Given the description of an element on the screen output the (x, y) to click on. 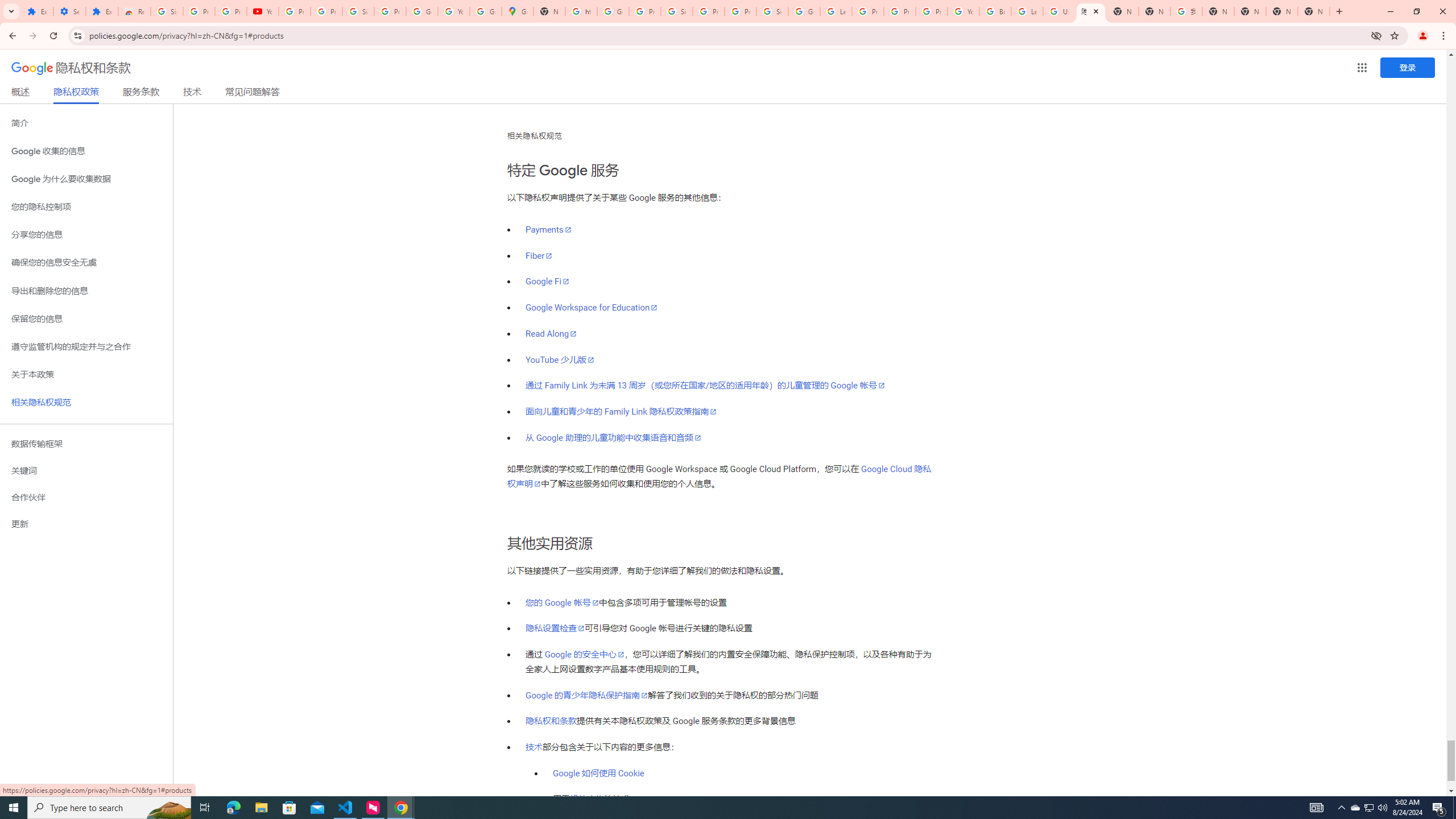
New Tab (1123, 11)
Google Fi (547, 281)
